Given the description of an element on the screen output the (x, y) to click on. 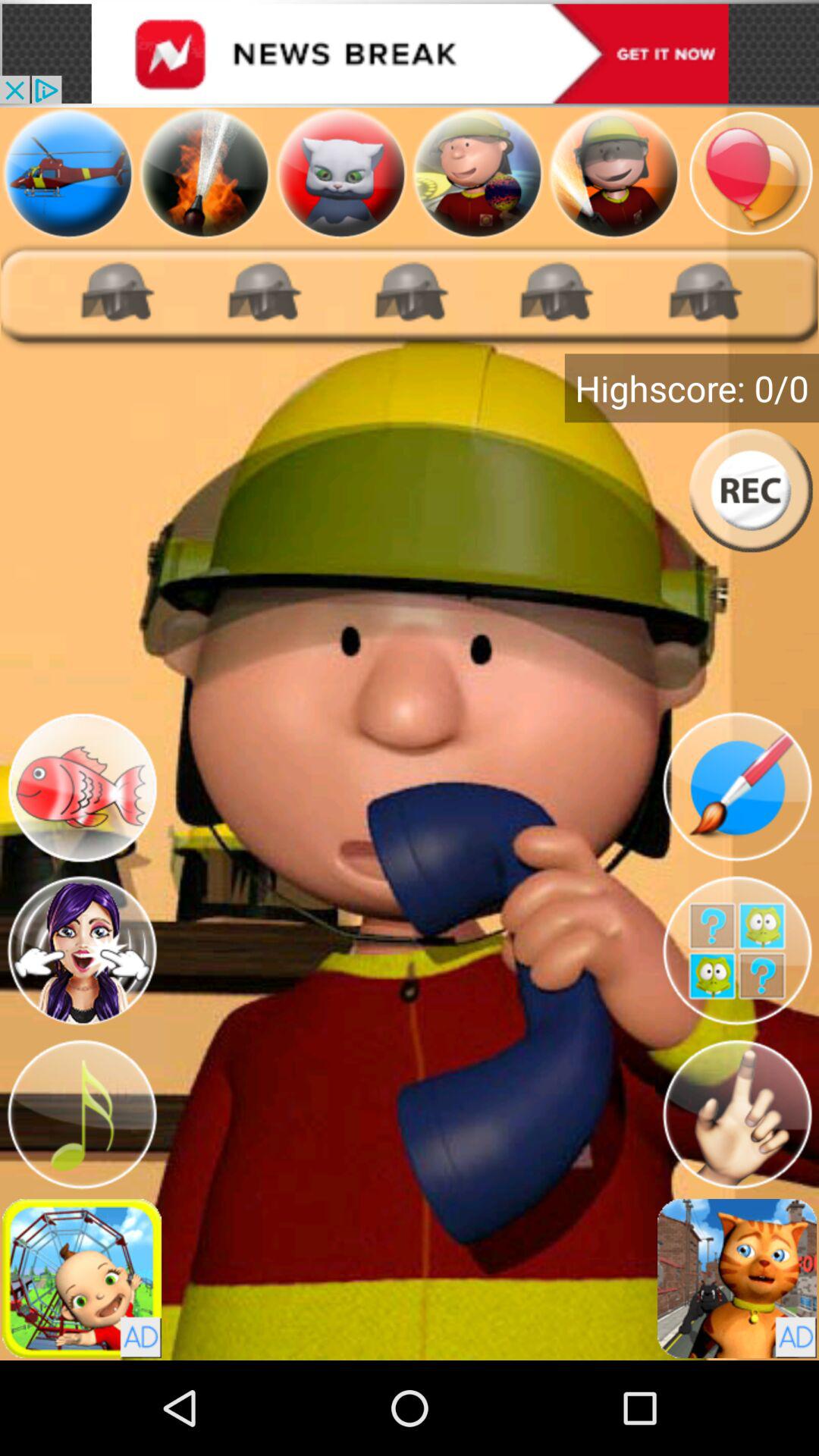
advertisent page (614, 173)
